Given the description of an element on the screen output the (x, y) to click on. 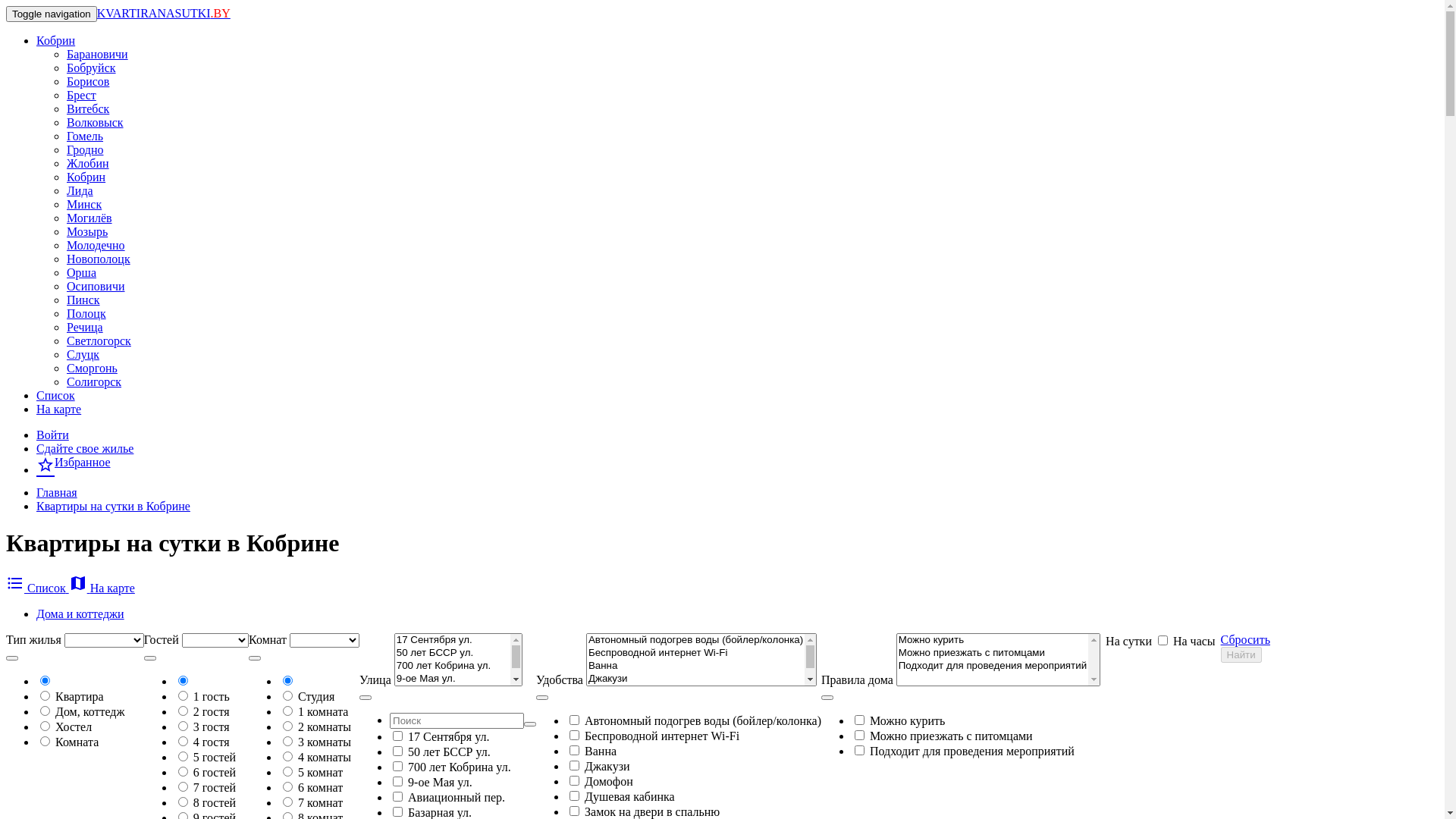
Toggle navigation Element type: text (51, 13)
KVARTIRANASUTKI.BY Element type: text (163, 12)
